Given the description of an element on the screen output the (x, y) to click on. 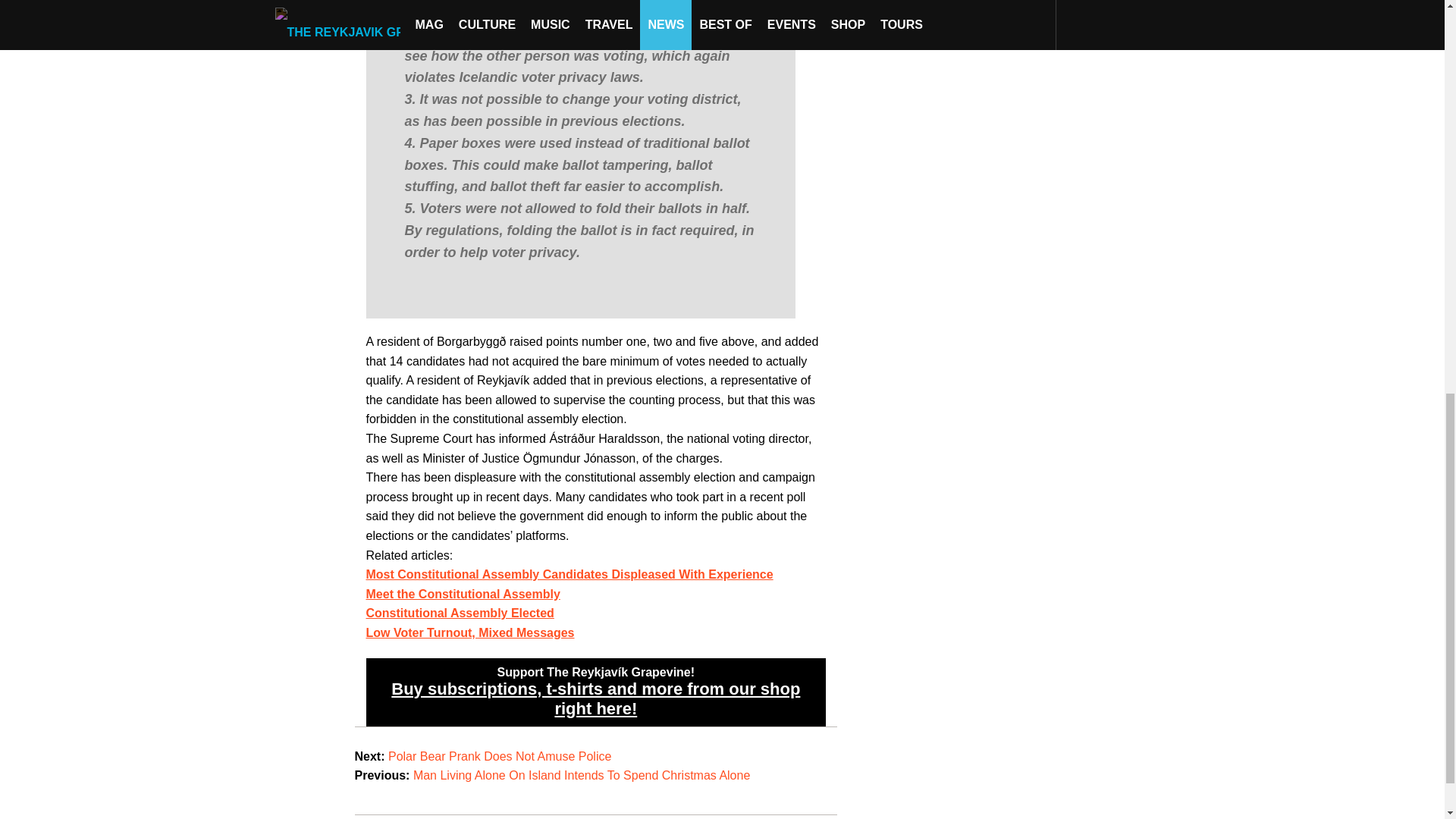
Meet the Constitutional Assembly (462, 594)
Man Living Alone On Island Intends To Spend Christmas Alone (581, 775)
Polar Bear Prank Does Not Amuse Police (499, 756)
Constitutional Assembly Elected (459, 612)
Low Voter Turnout, Mixed Messages (469, 632)
